Given the description of an element on the screen output the (x, y) to click on. 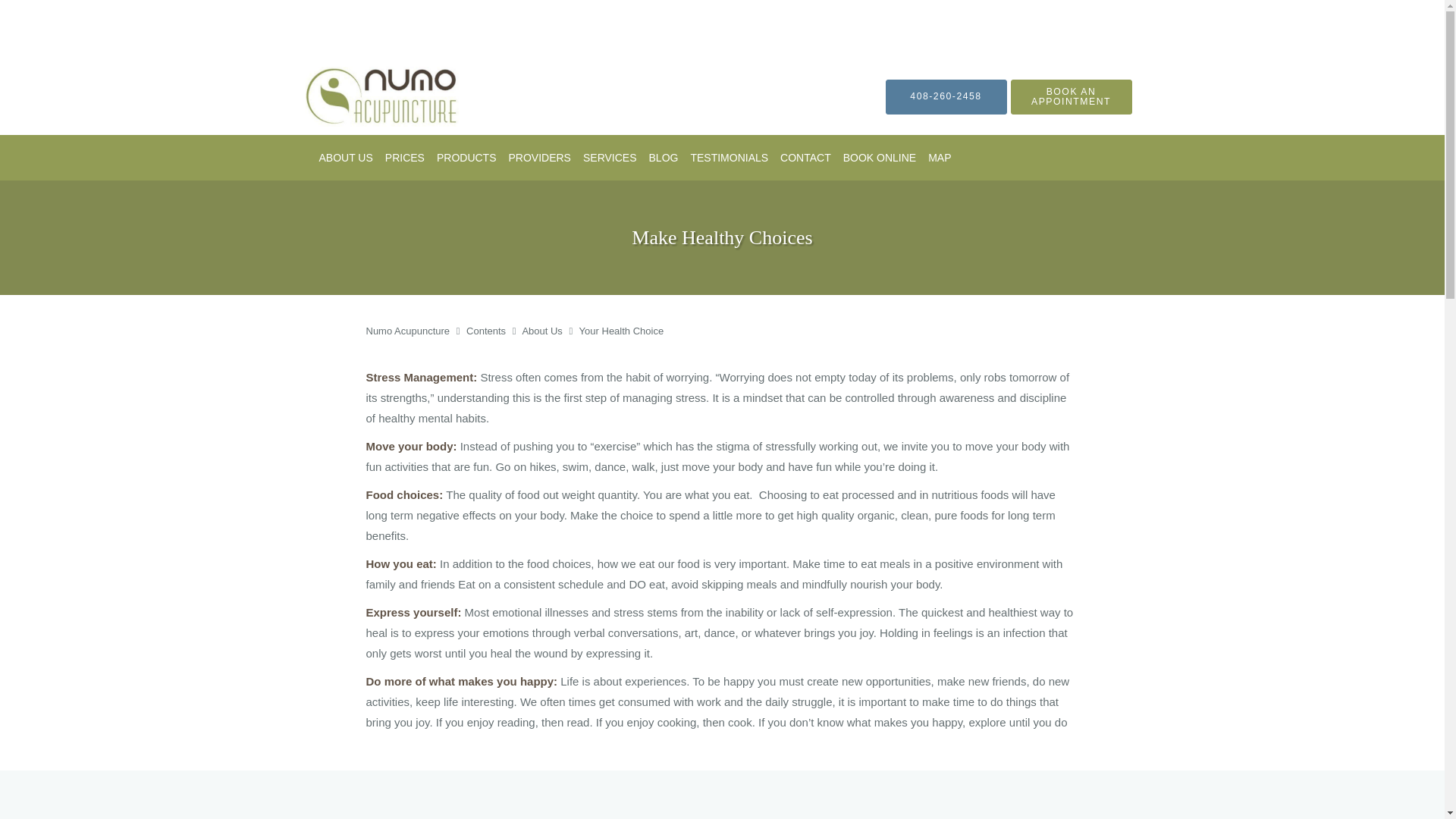
BLOG (663, 157)
PRICES (404, 157)
ABOUT US (345, 157)
408-260-2458 (946, 96)
BOOK AN APPOINTMENT (1070, 96)
PRODUCTS (466, 157)
PROVIDERS (539, 157)
Your Health Choice (621, 330)
SERVICES (609, 157)
BOOK ONLINE (879, 157)
